Given the description of an element on the screen output the (x, y) to click on. 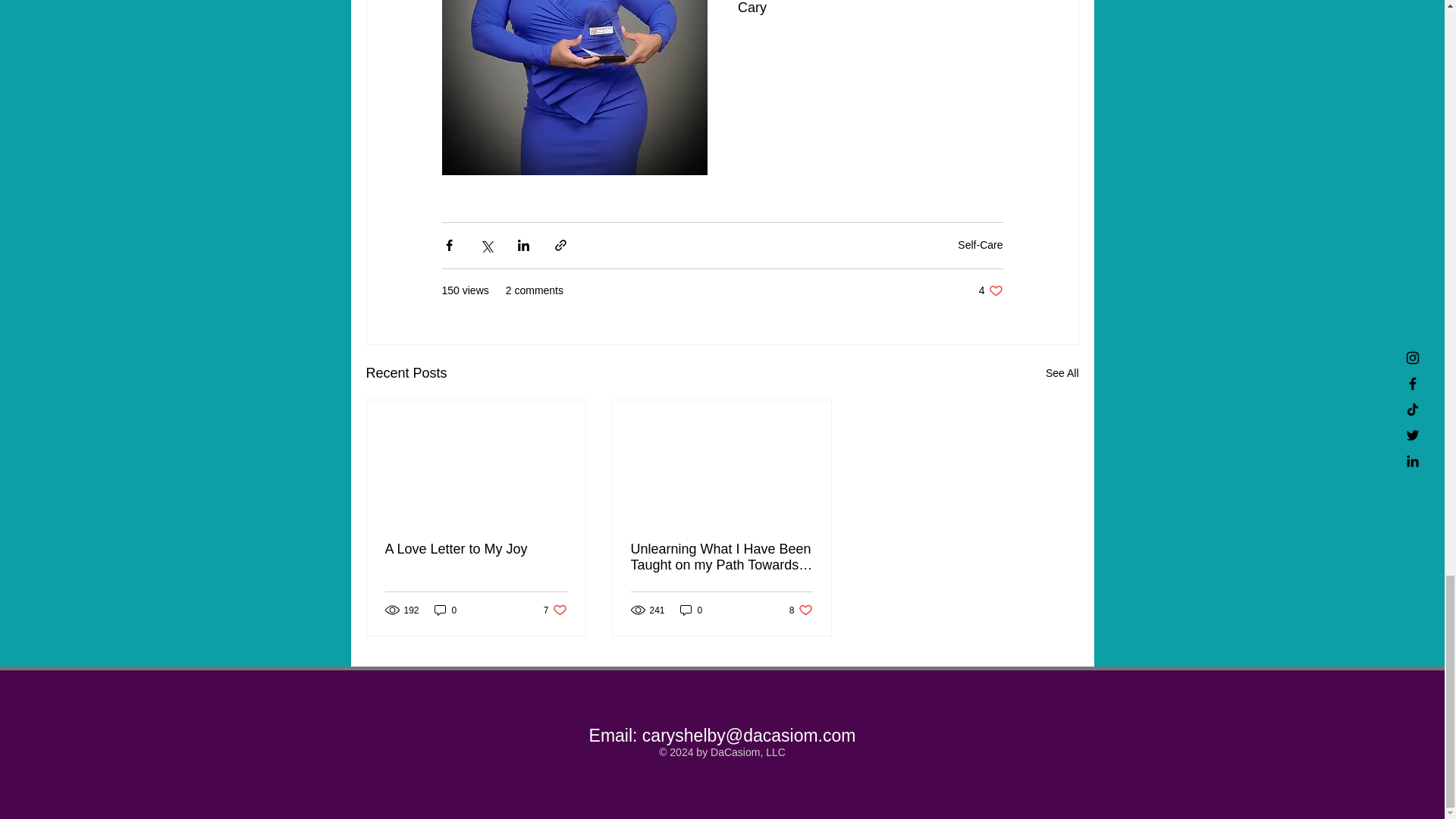
A Love Letter to My Joy (800, 609)
See All (476, 549)
0 (1061, 373)
0 (555, 609)
Self-Care (691, 609)
